Given the description of an element on the screen output the (x, y) to click on. 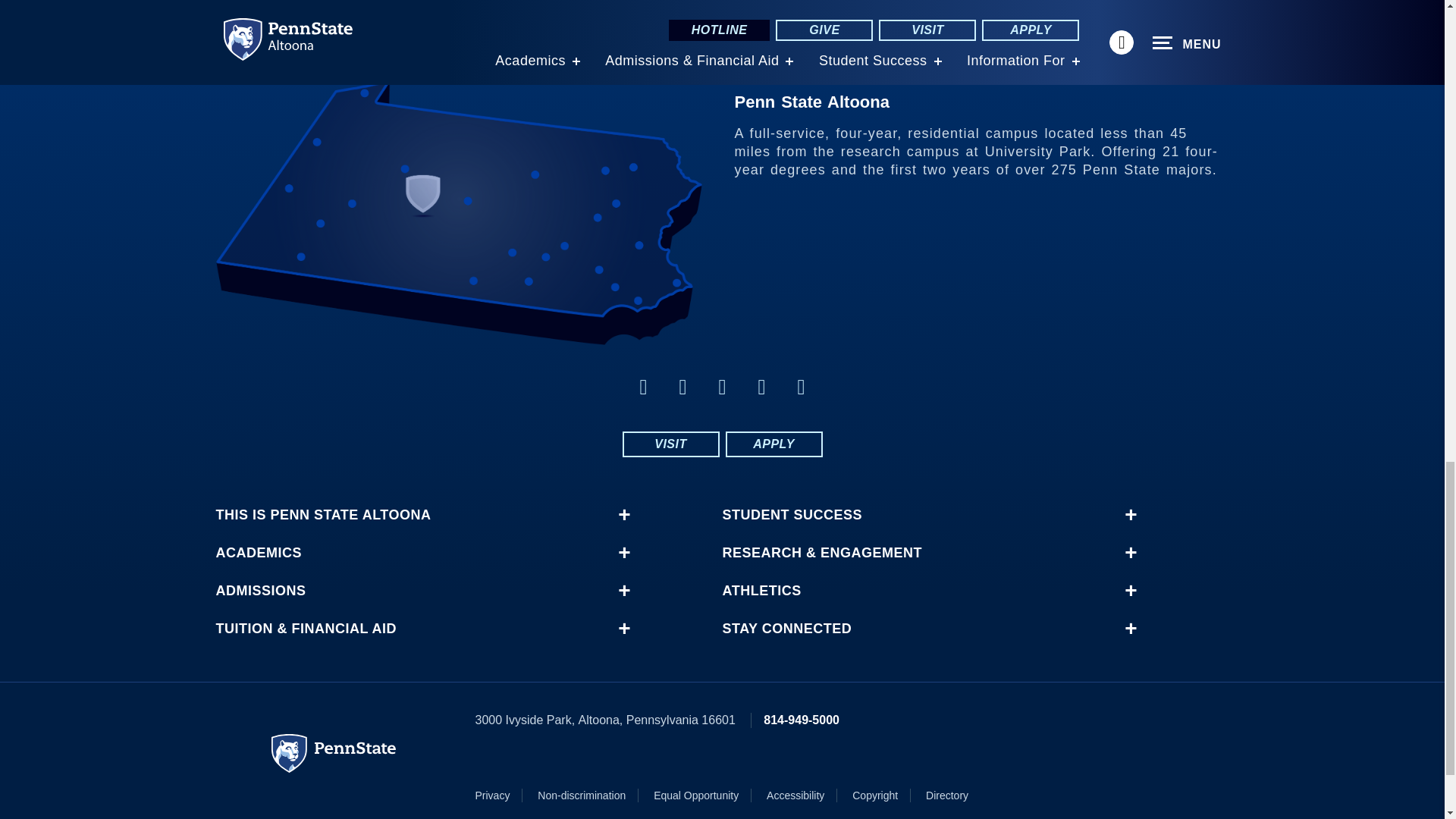
facebook (642, 386)
youtube (761, 386)
Penn State University (333, 753)
twitter (682, 386)
instagram (721, 386)
linkedin (800, 386)
